Given the description of an element on the screen output the (x, y) to click on. 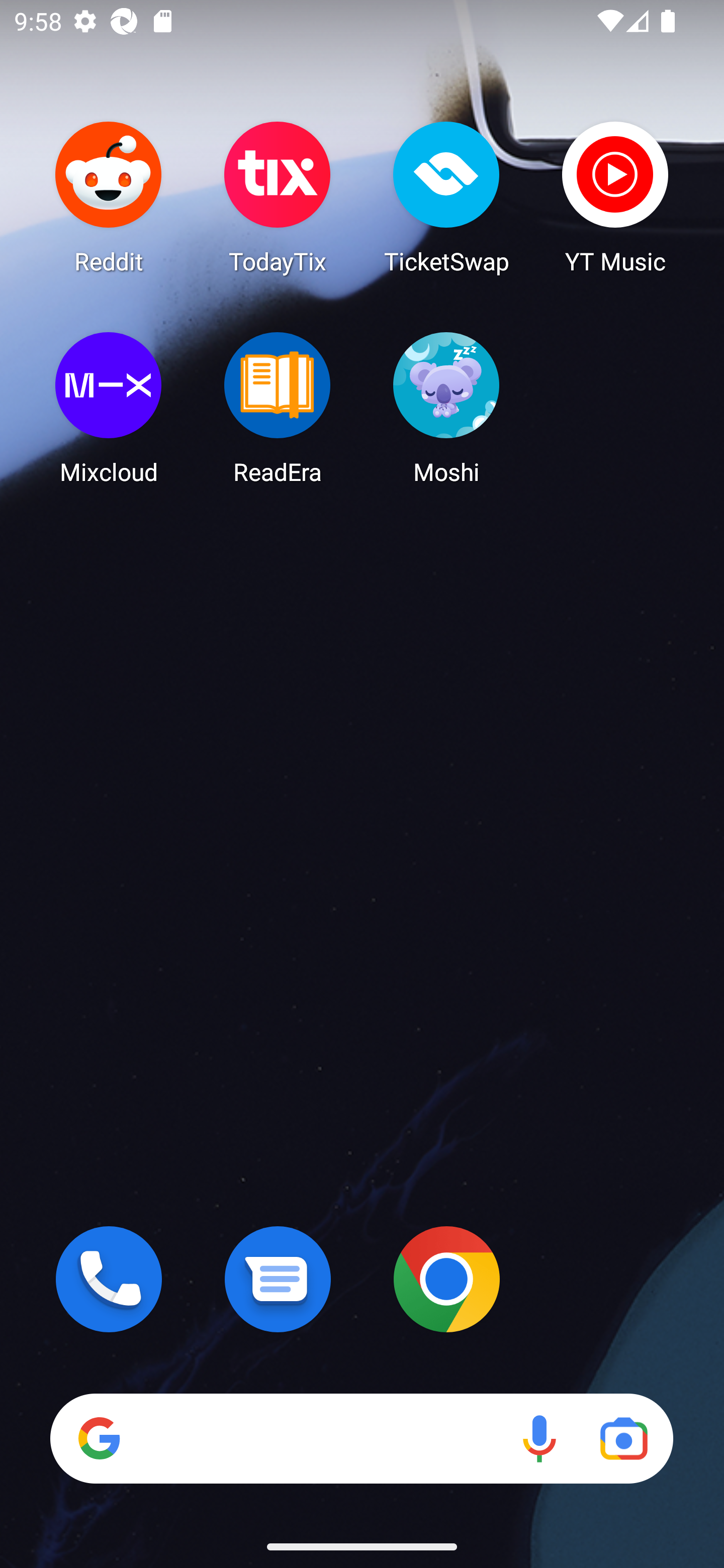
Reddit (108, 196)
TodayTix (277, 196)
TicketSwap (445, 196)
YT Music (615, 196)
Mixcloud (108, 407)
ReadEra (277, 407)
Moshi (445, 407)
Phone (108, 1279)
Messages (277, 1279)
Chrome (446, 1279)
Voice search (539, 1438)
Google Lens (623, 1438)
